Given the description of an element on the screen output the (x, y) to click on. 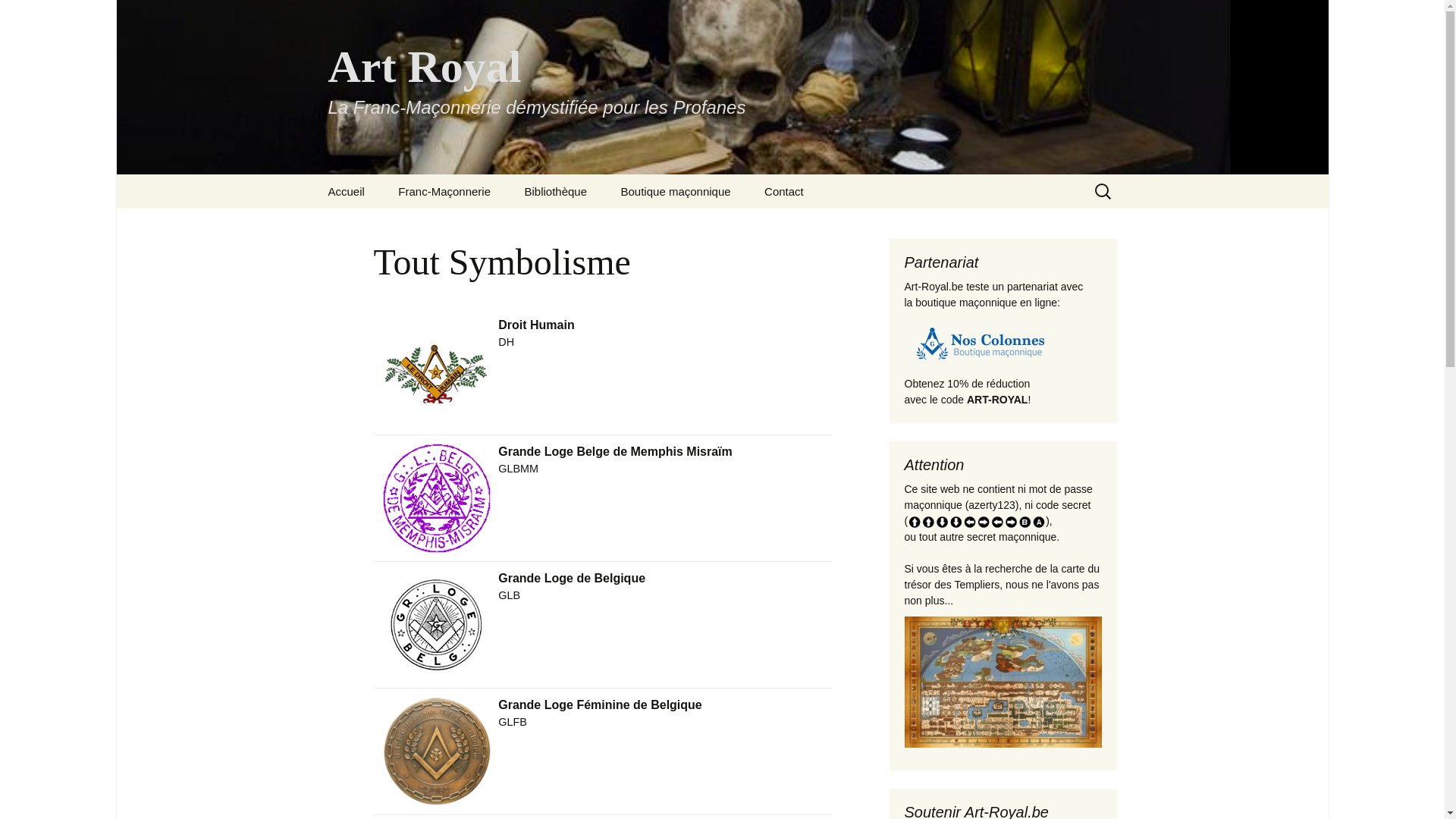
Contact Element type: text (784, 191)
Accueil Element type: text (345, 191)
Aller au contenu Element type: text (312, 173)
Rechercher Element type: text (18, 15)
Livres Element type: text (584, 225)
